Given the description of an element on the screen output the (x, y) to click on. 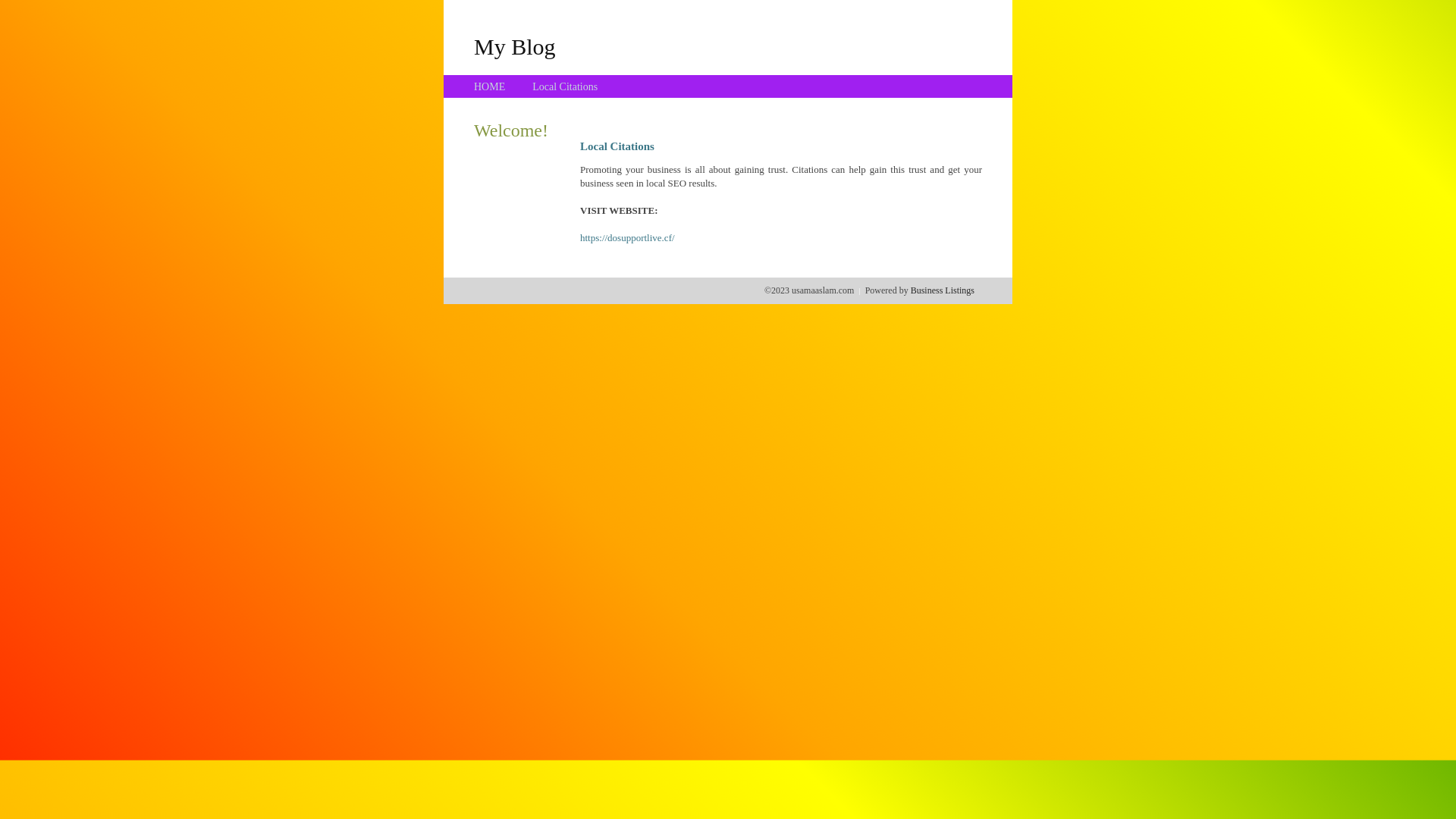
https://dosupportlive.cf/ Element type: text (627, 237)
My Blog Element type: text (514, 46)
Business Listings Element type: text (942, 290)
HOME Element type: text (489, 86)
Local Citations Element type: text (564, 86)
